Given the description of an element on the screen output the (x, y) to click on. 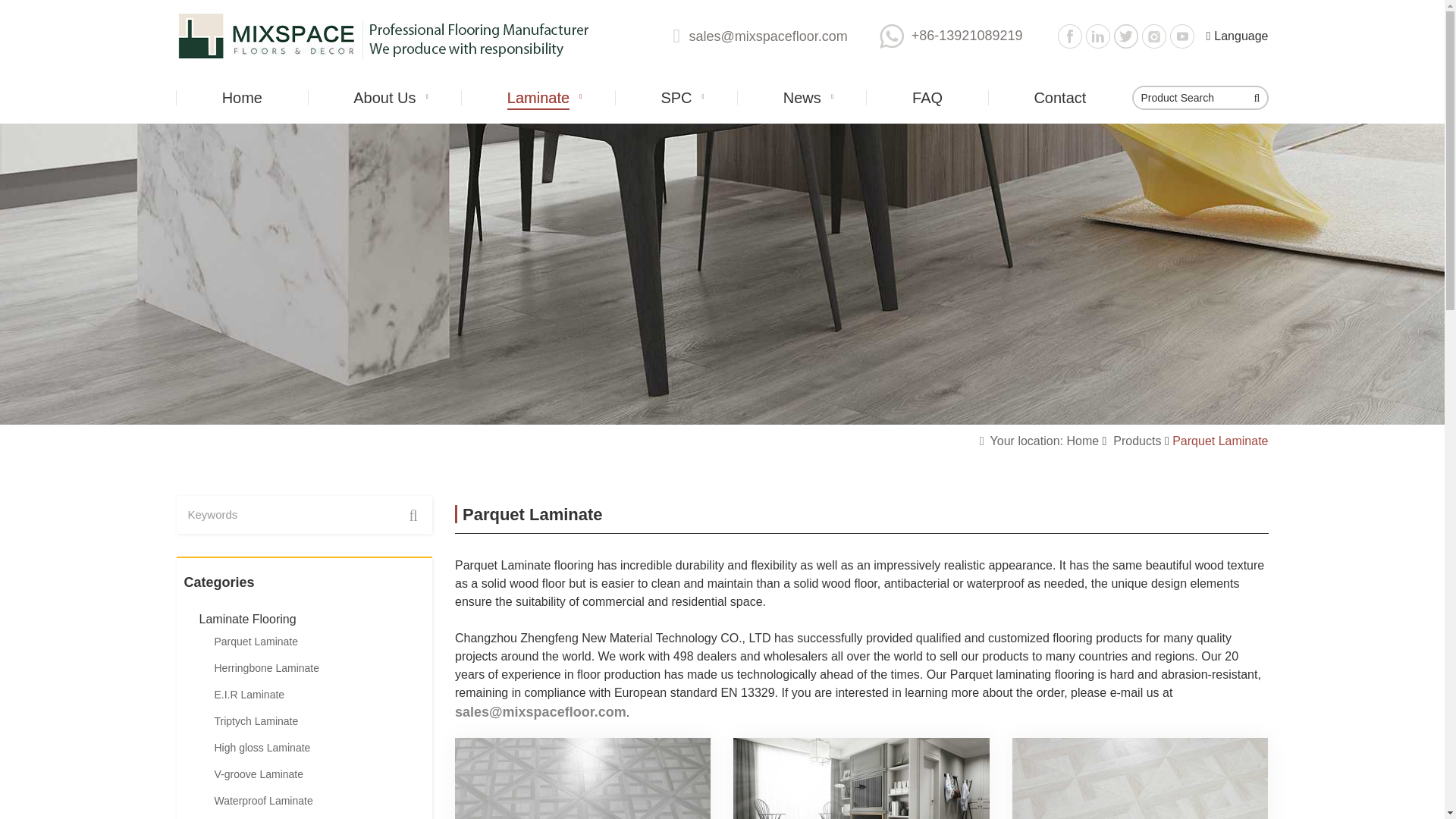
Product Search (1189, 97)
FAQ (927, 97)
Laminate (537, 97)
SPC (676, 97)
About Us (383, 97)
News (802, 97)
Keywords (285, 514)
Contact (1059, 97)
Home (242, 97)
